Given the description of an element on the screen output the (x, y) to click on. 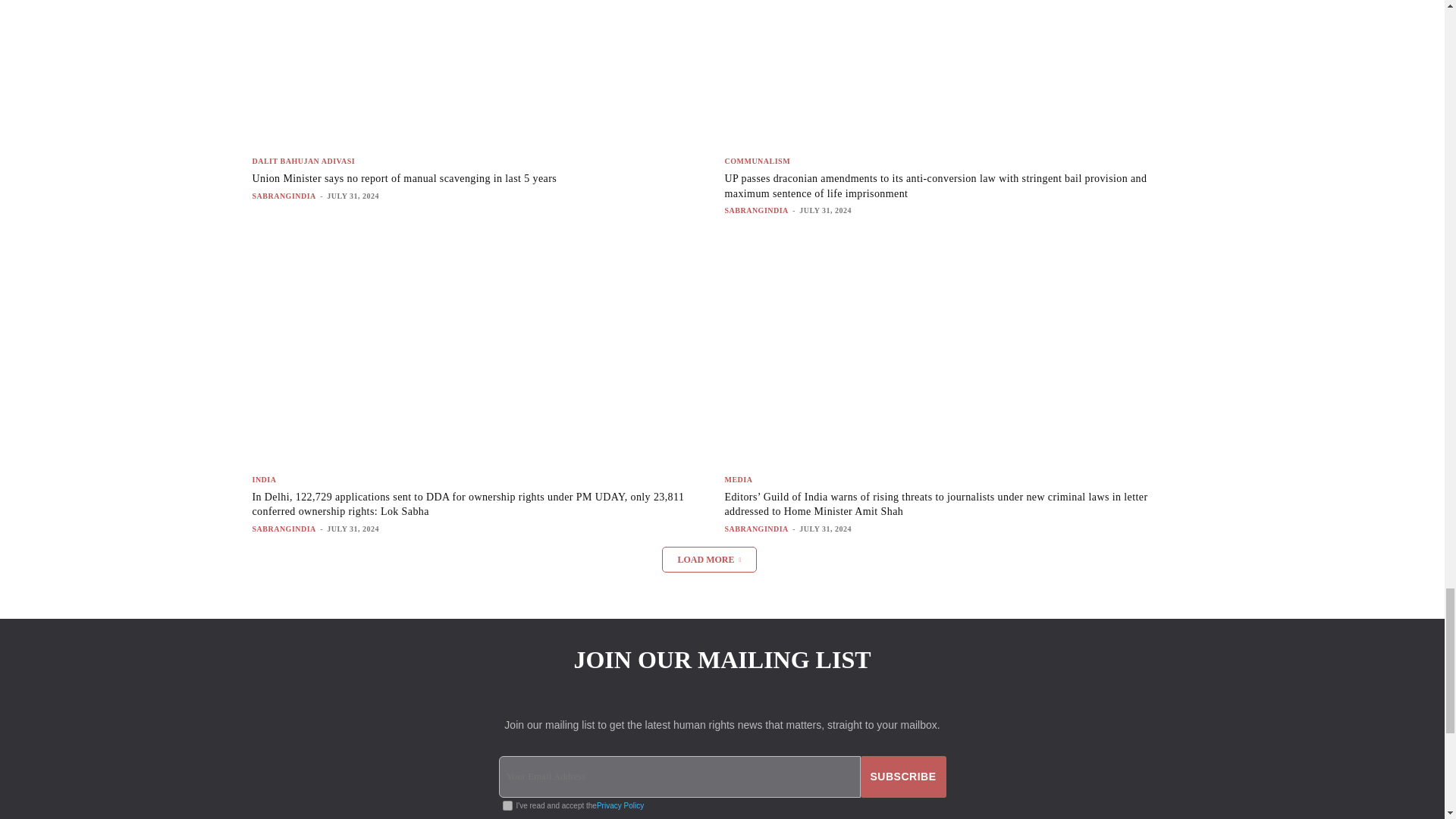
Subscribe (903, 776)
